Given the description of an element on the screen output the (x, y) to click on. 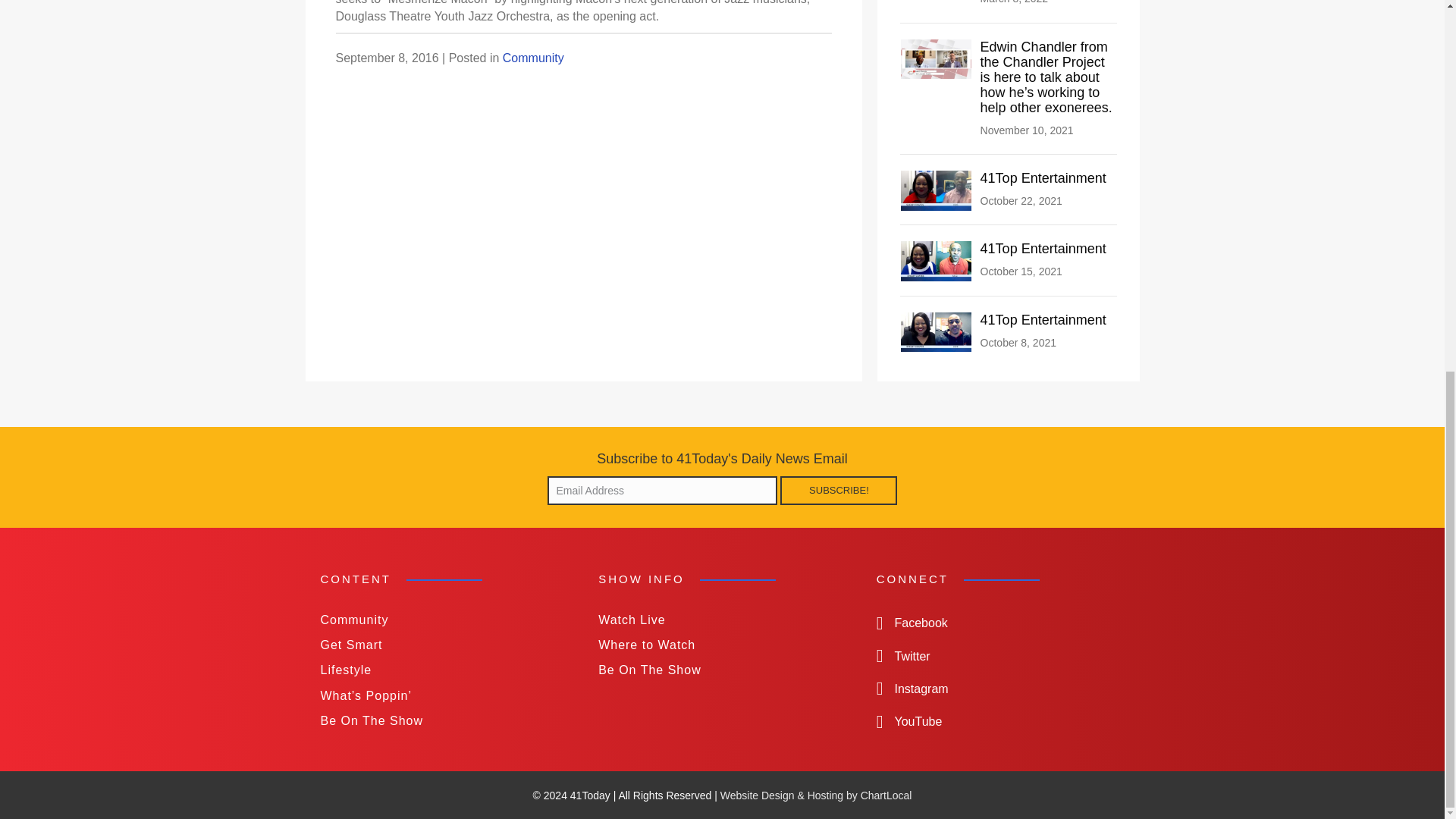
Lifestyle (443, 669)
41Top Entertainment (1042, 319)
Community (443, 619)
Community (533, 57)
41Top Entertainment (1042, 177)
41Top Entertainment (936, 259)
41Top Entertainment (1042, 319)
41Top Entertainment (1042, 248)
SUBSCRIBE! (838, 490)
Get Smart (443, 644)
41Top Entertainment (1042, 248)
41Top Entertainment (936, 330)
Watch Live (722, 619)
Be On The Show (443, 720)
41Top Entertainment (1042, 177)
